Given the description of an element on the screen output the (x, y) to click on. 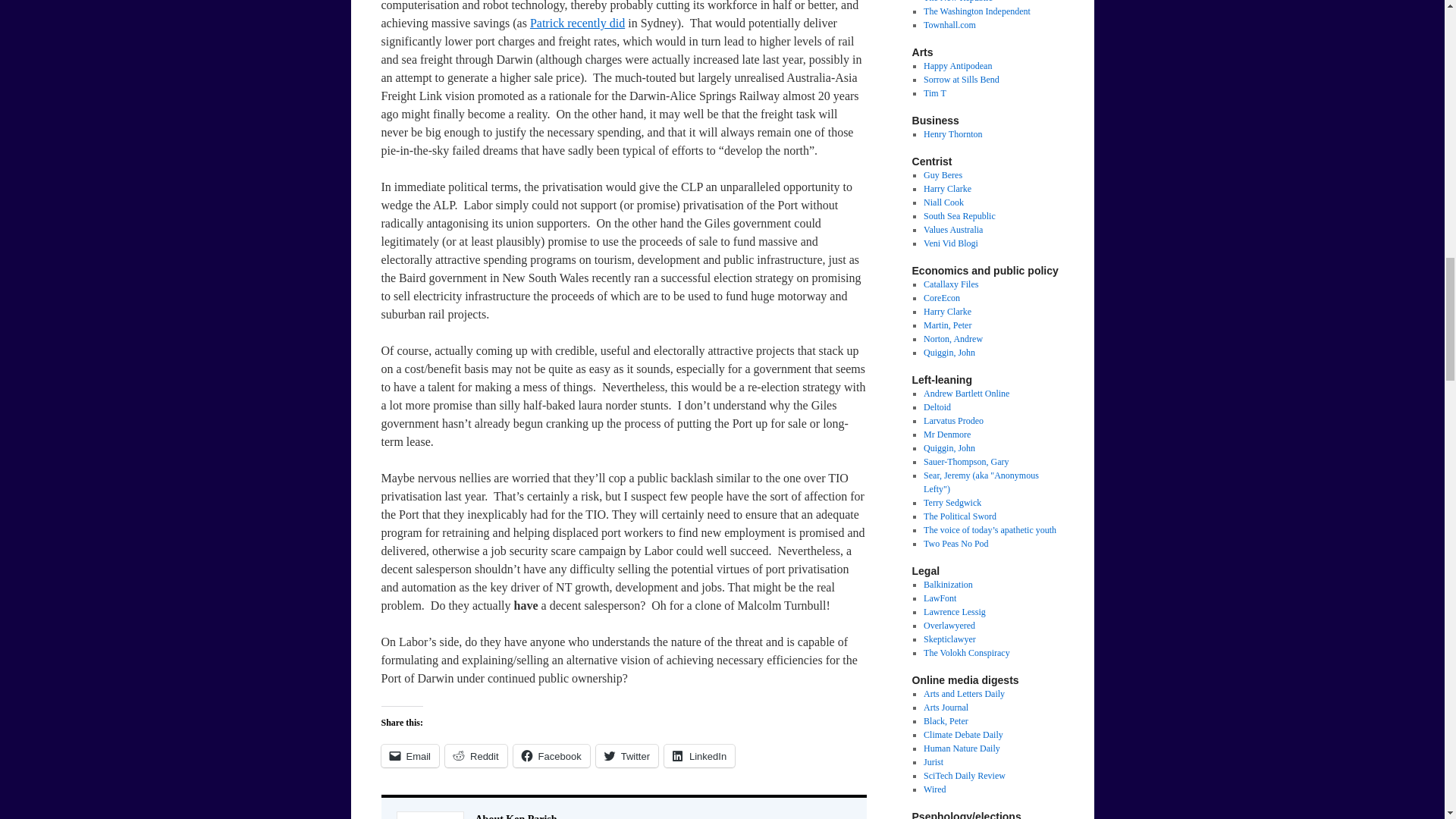
Click to share on Reddit (475, 755)
LinkedIn (699, 755)
Click to email a link to a friend (409, 755)
Twitter (626, 755)
Reddit (475, 755)
Patrick recently did (576, 22)
Click to share on Twitter (626, 755)
Click to share on LinkedIn (699, 755)
Facebook (551, 755)
Click to share on Facebook (551, 755)
